Given the description of an element on the screen output the (x, y) to click on. 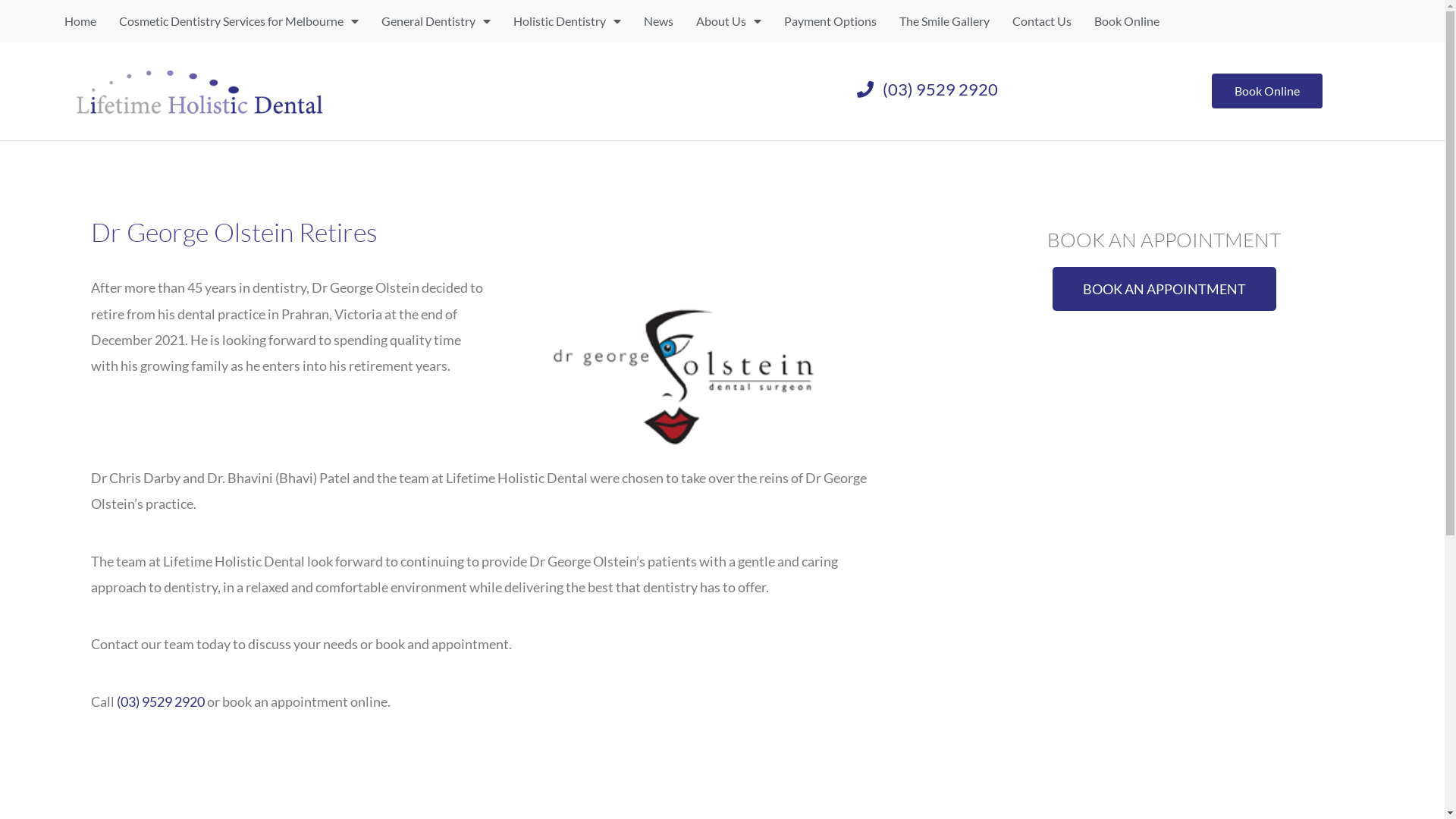
Holistic Dentistry Element type: text (567, 21)
Home Element type: text (80, 21)
Contact Us Element type: text (1041, 21)
Book Online Element type: text (1126, 21)
Cosmetic Dentistry Services for Melbourne Element type: text (238, 21)
  (03) 9529 2920 Element type: text (928, 89)
About Us Element type: text (728, 21)
(03) 9529 2920 Element type: text (160, 701)
BOOK AN APPOINTMENT Element type: text (1164, 288)
News Element type: text (658, 21)
The Smile Gallery Element type: text (944, 21)
Book Online Element type: text (1266, 90)
Payment Options Element type: text (830, 21)
General Dentistry Element type: text (436, 21)
